Given the description of an element on the screen output the (x, y) to click on. 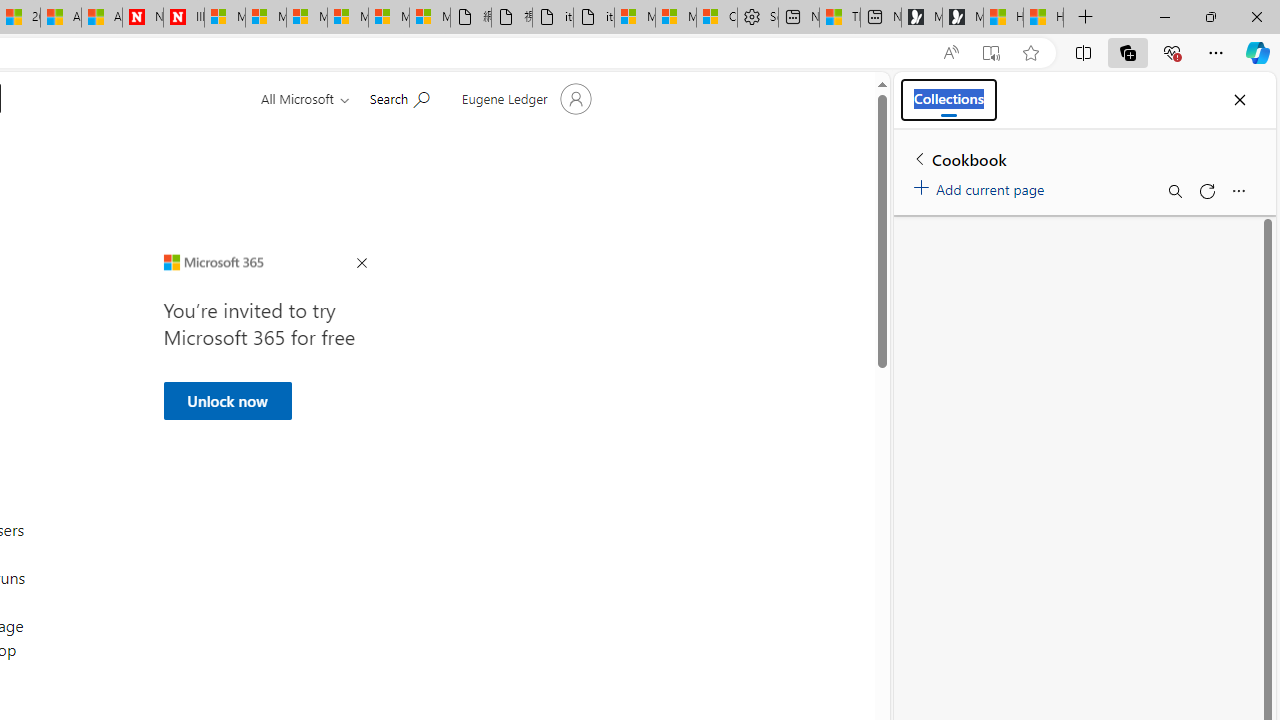
Account manager for Eugene Ledger (524, 98)
itconcepthk.com/projector_solutions.mp4 (593, 17)
How to Use a TV as a Computer Monitor (1043, 17)
Illness news & latest pictures from Newsweek.com (183, 17)
Close Ad (361, 264)
More options menu (1238, 190)
Three Ways To Stop Sweating So Much (840, 17)
Search for help (399, 97)
